Given the description of an element on the screen output the (x, y) to click on. 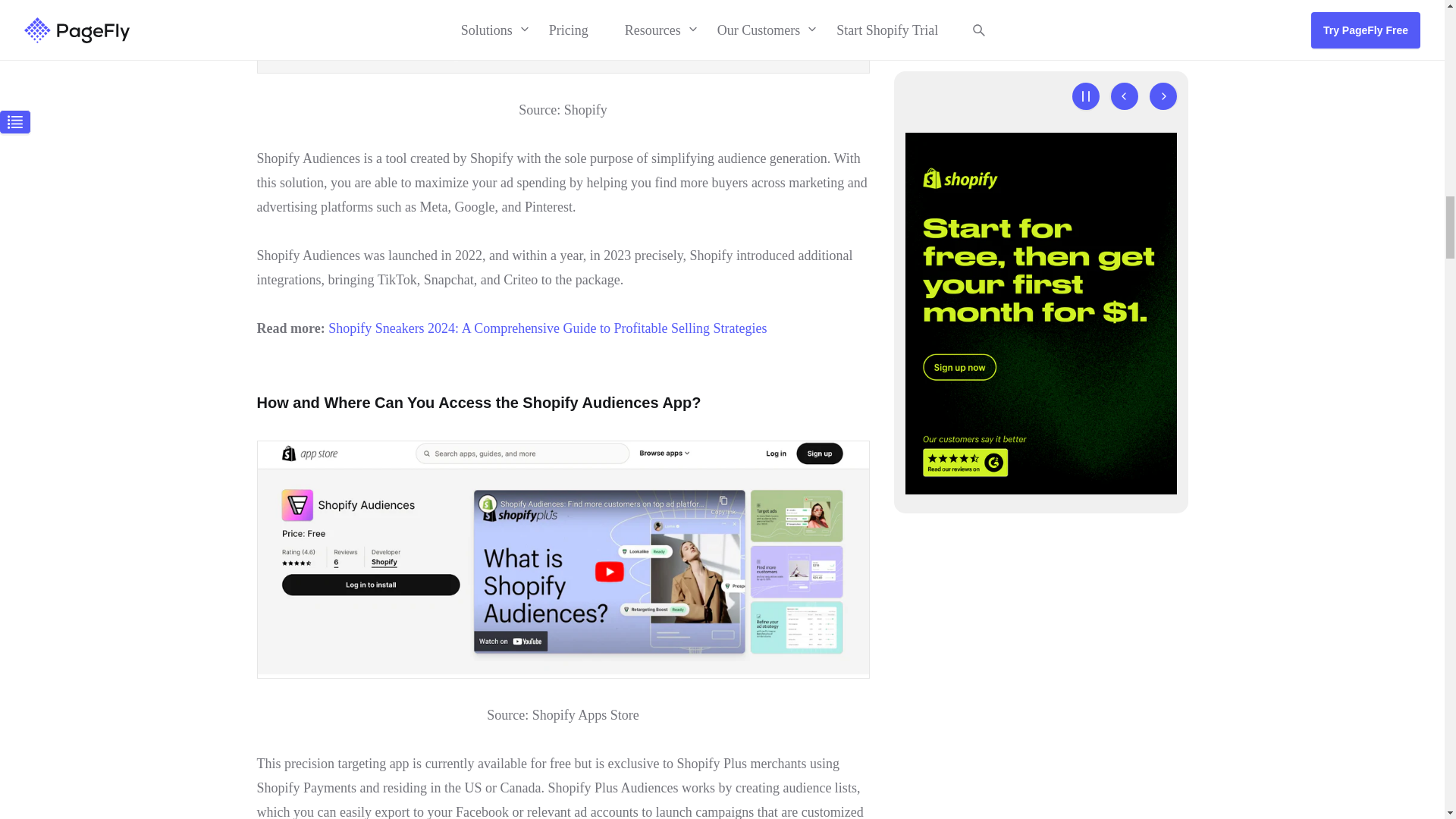
shopify sneakers (548, 328)
